Given the description of an element on the screen output the (x, y) to click on. 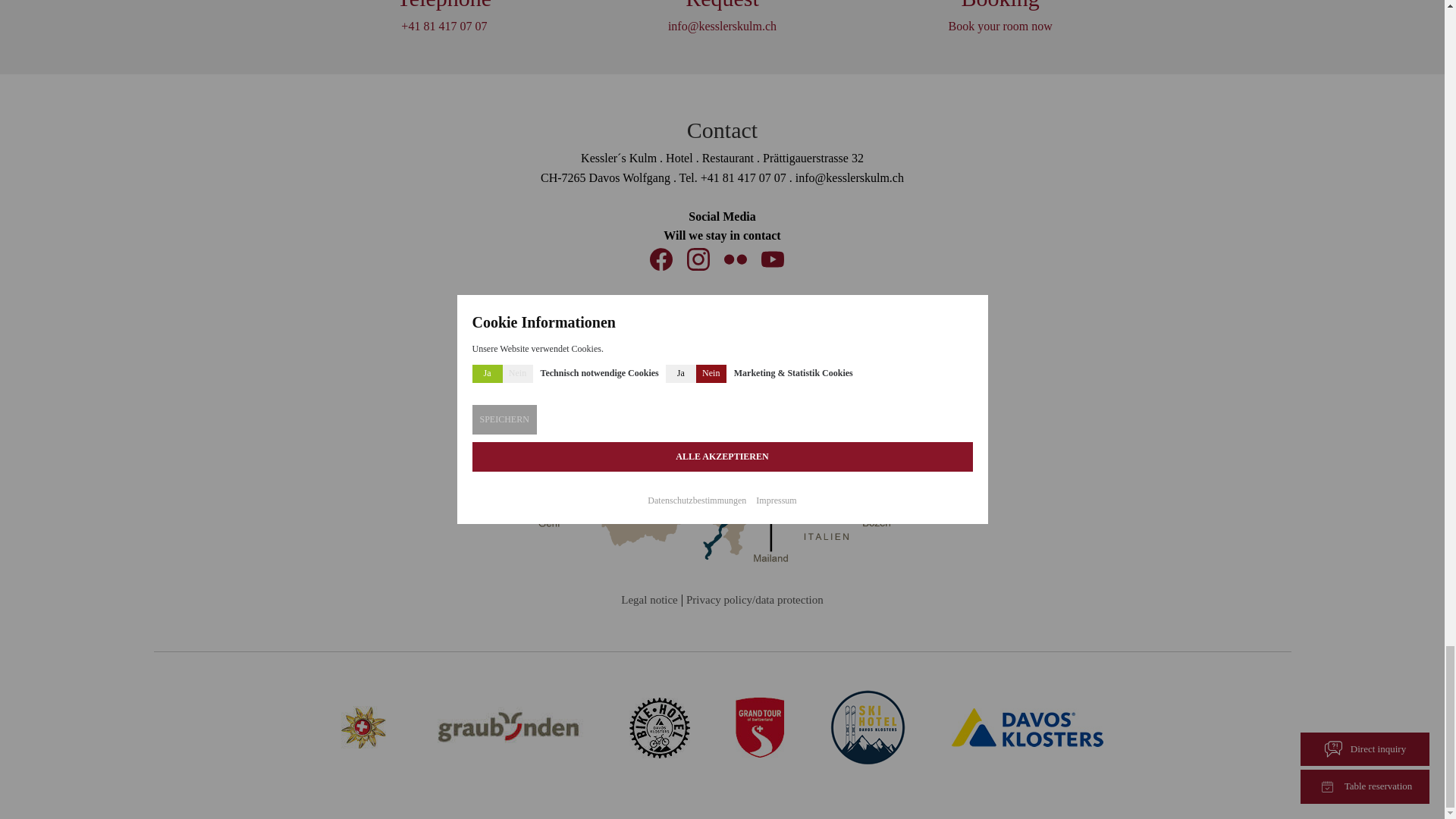
Hotel Kessler Kulm (659, 727)
Ski Hotel in Davos (867, 727)
Urlaub in Davos (759, 727)
